Given the description of an element on the screen output the (x, y) to click on. 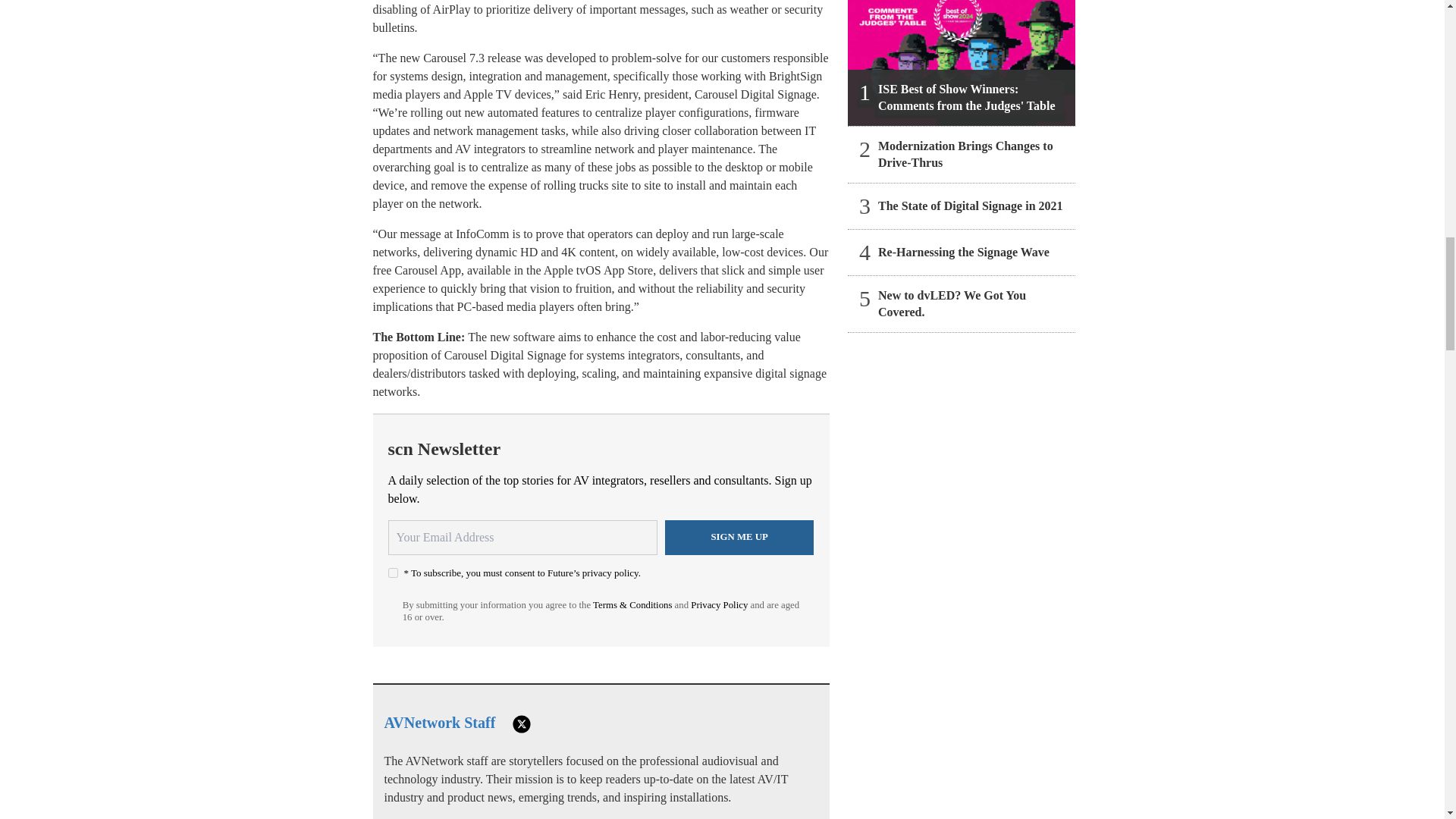
Privacy Policy (719, 604)
Sign me up (739, 537)
Sign me up (739, 537)
on (392, 573)
AVNetwork Staff (439, 722)
ISE Best of Show Winners: Comments from the Judges' Table (961, 63)
